Given the description of an element on the screen output the (x, y) to click on. 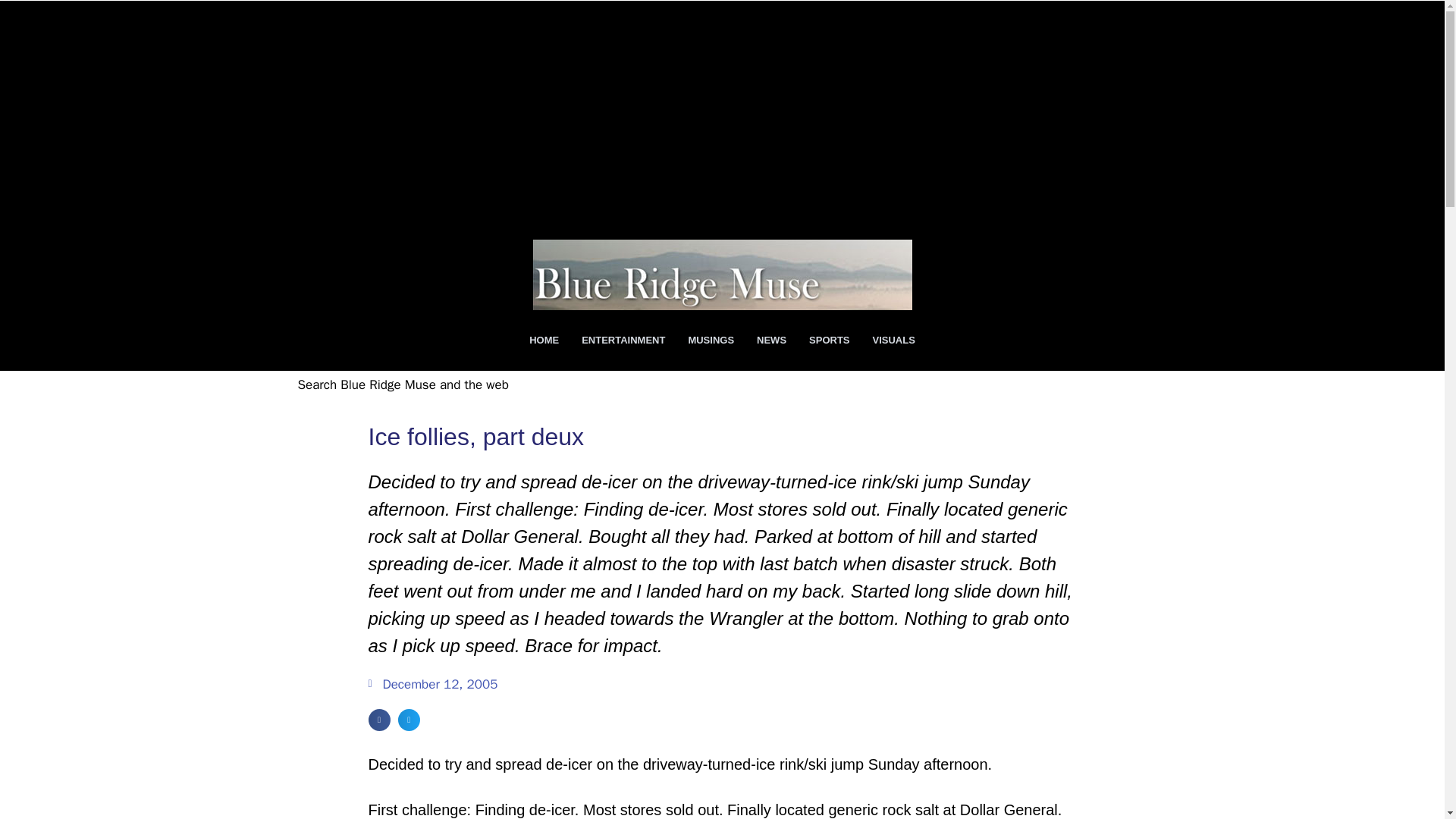
SPORTS (828, 340)
ENTERTAINMENT (623, 340)
December 12, 2005 (432, 684)
MUSINGS (711, 340)
VISUALS (893, 340)
